Given the description of an element on the screen output the (x, y) to click on. 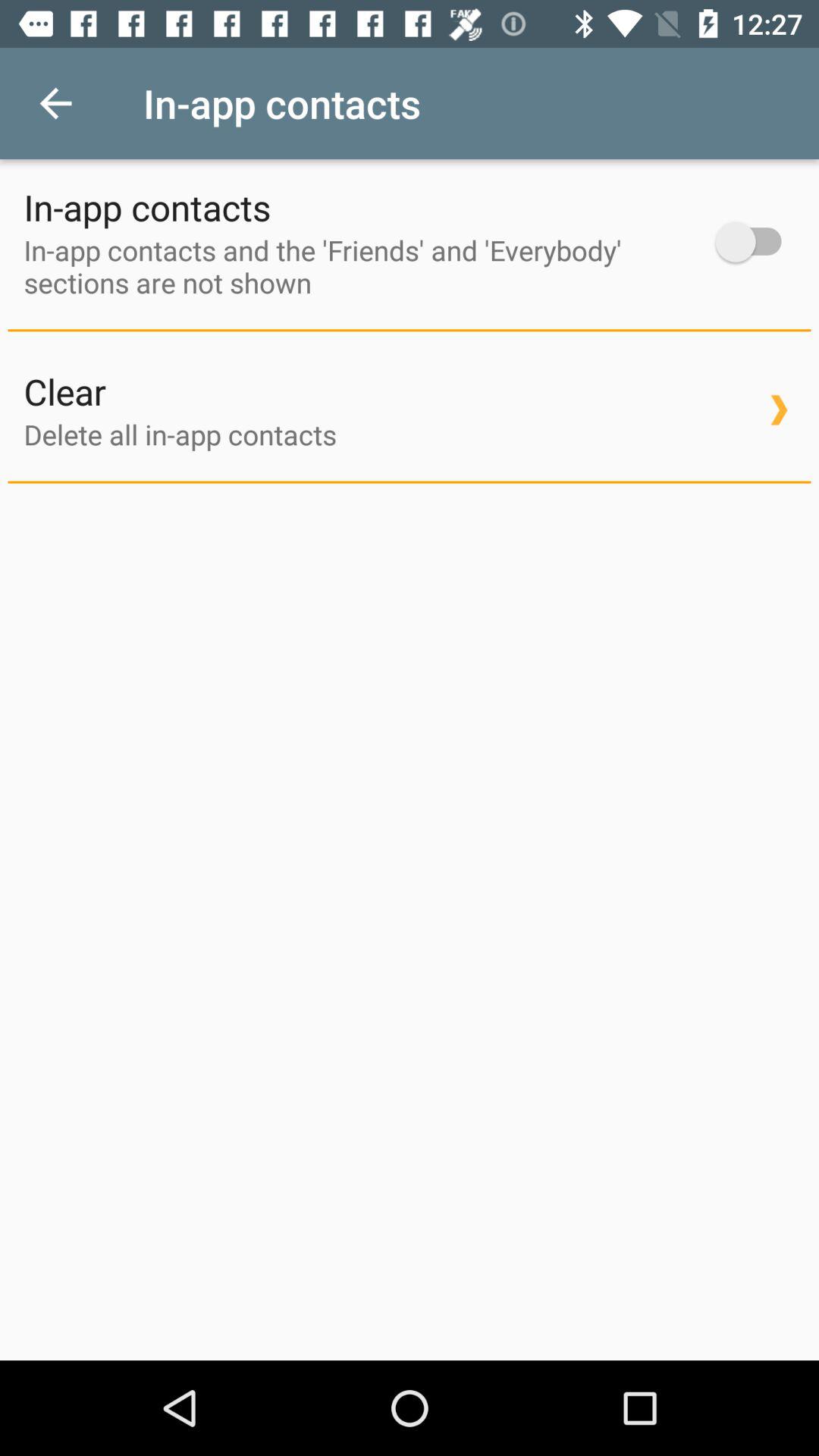
select the icon to the right of the in-app contacts (755, 241)
